Given the description of an element on the screen output the (x, y) to click on. 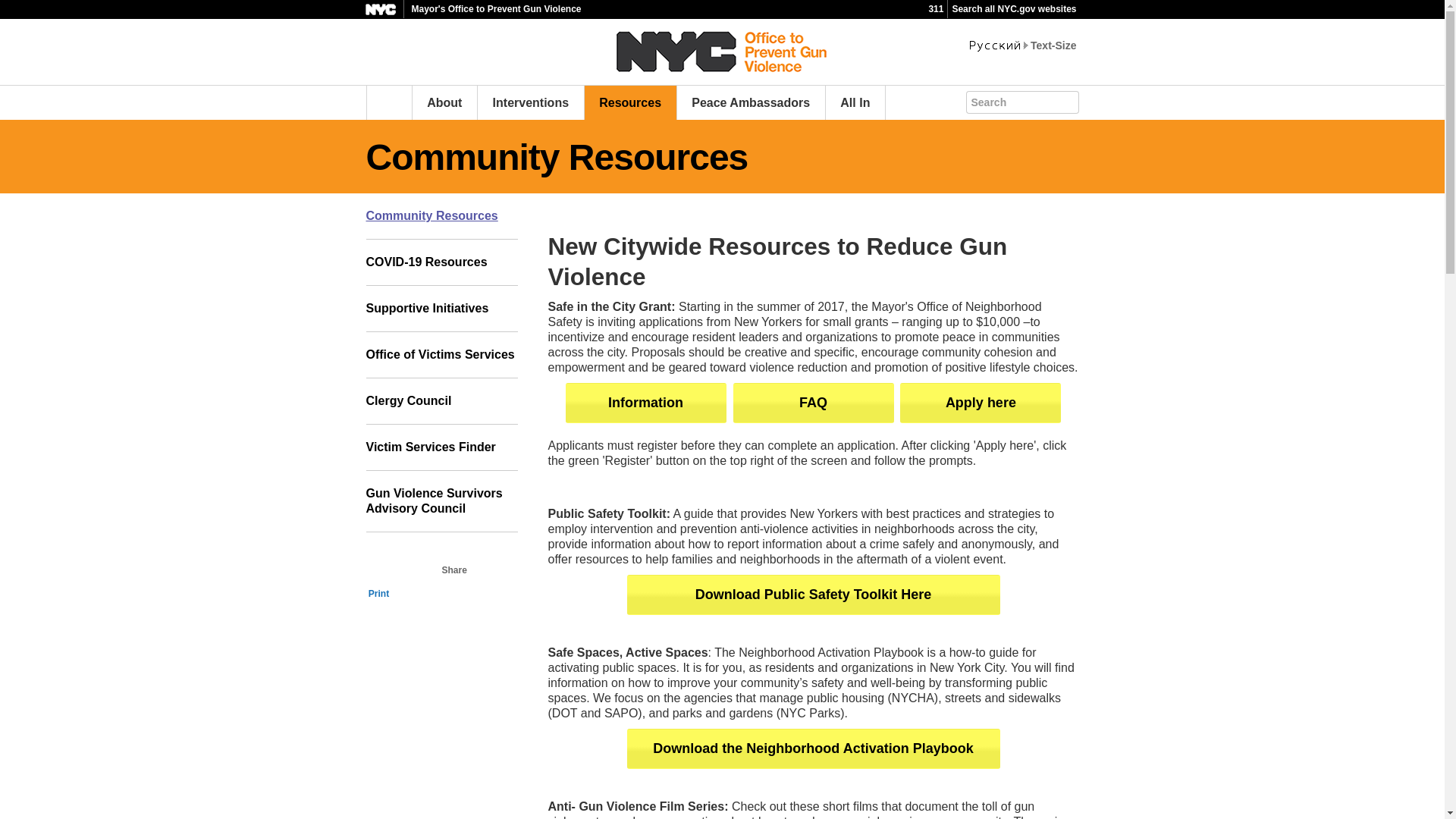
Information (646, 403)
Office of Victims Services (440, 355)
COVID-19 Resources (440, 262)
Victim Services Finder (440, 447)
Interventions (531, 102)
Search all NYC.gov websites (1013, 9)
About (443, 102)
Download Public Safety Toolkit Here (812, 594)
Gun Violence Survivors Advisory Council (440, 501)
Clergy Council (440, 401)
